Given the description of an element on the screen output the (x, y) to click on. 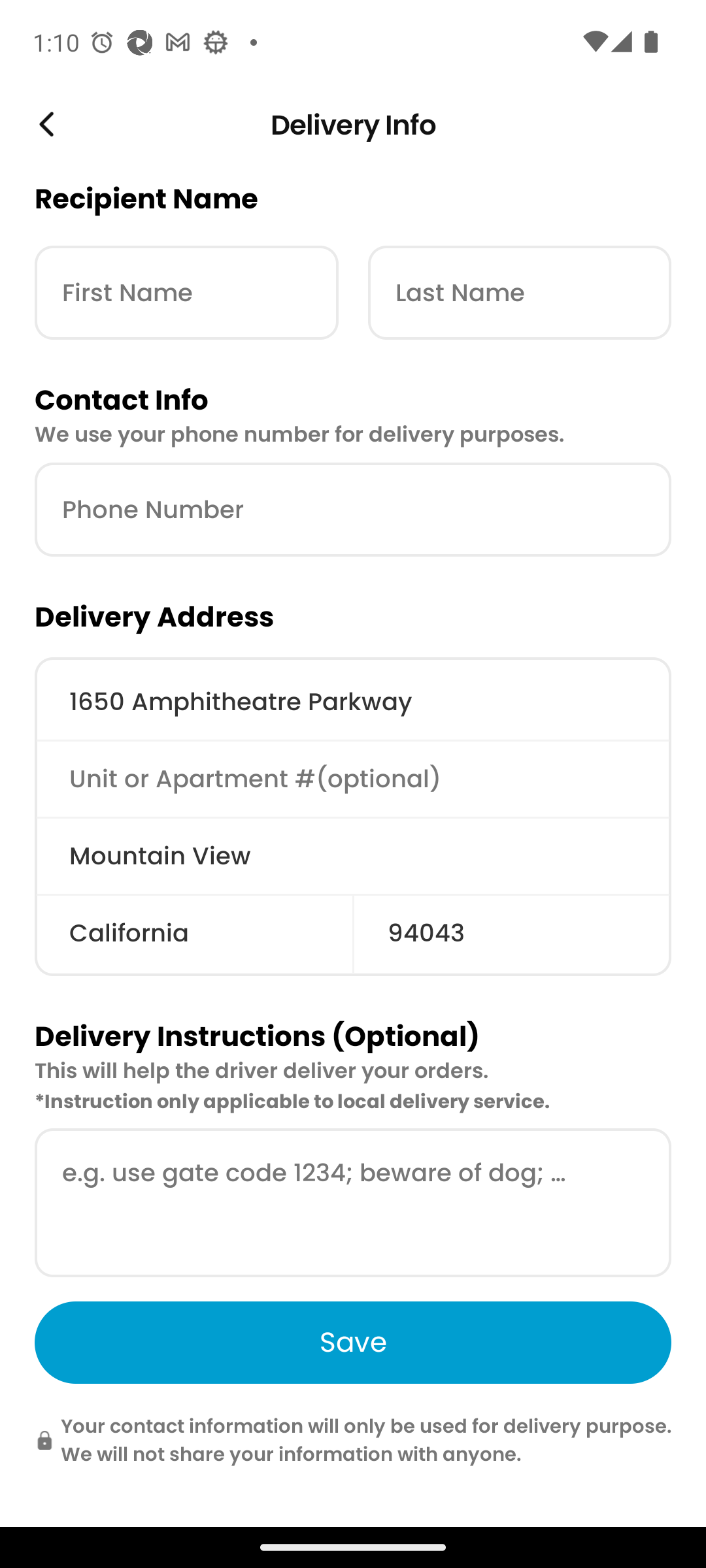
First Name (186, 293)
Last Name (519, 293)
Phone Number (352, 509)
1650 Amphitheatre Parkway (352, 701)
Unit or Apartment #(optional) (352, 778)
Mountain View (352, 855)
California (193, 932)
94043 (511, 932)
e.g. use gate code 1234; beware of dog; … (352, 1202)
Save (352, 1341)
